Given the description of an element on the screen output the (x, y) to click on. 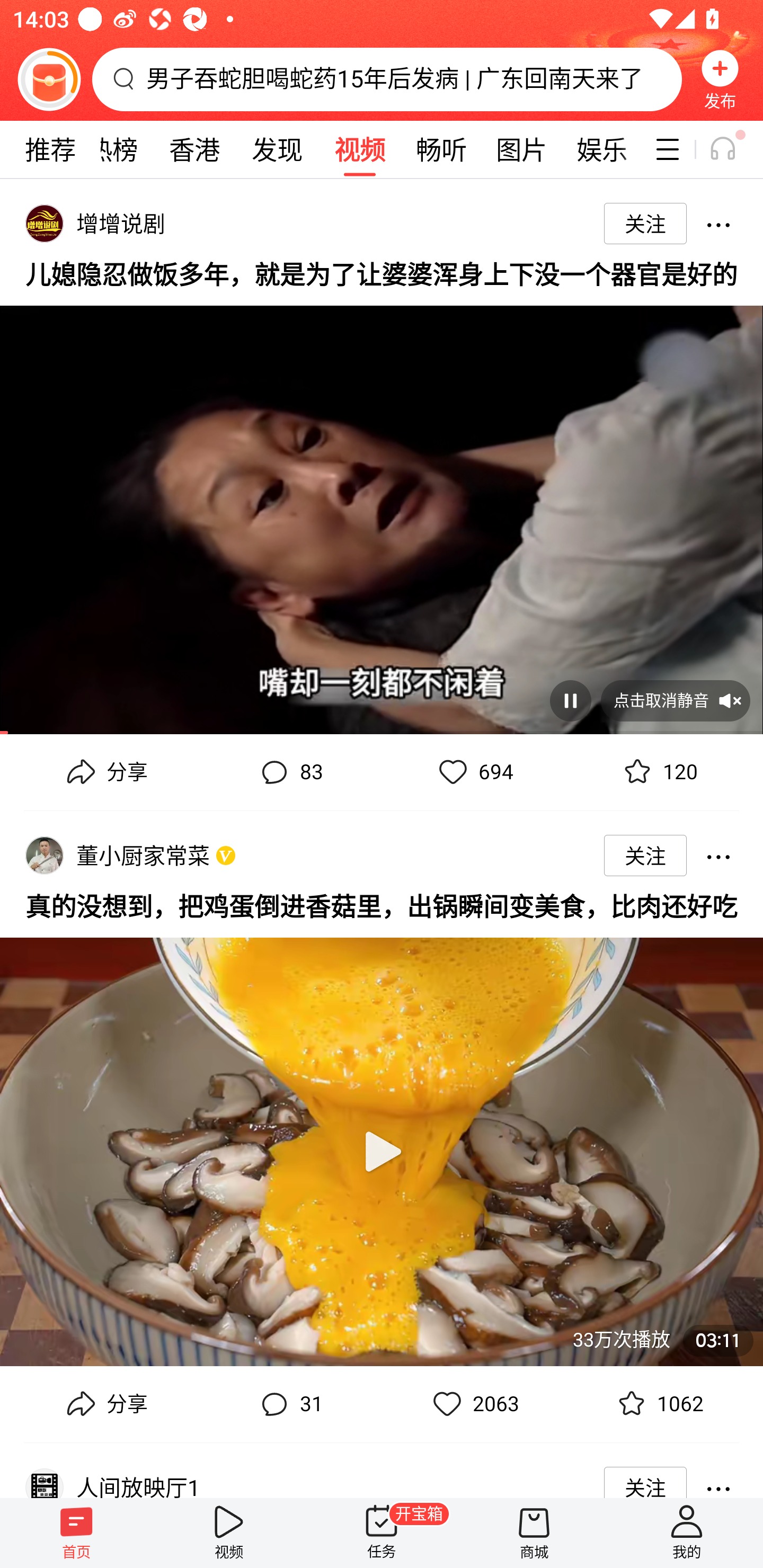
阅读赚金币 (48, 79)
发布 发布，按钮 (720, 78)
推荐 (49, 149)
香港 (194, 149)
发现 (276, 149)
视频 (359, 149)
畅听 (441, 149)
图片 (521, 149)
娱乐 (601, 149)
听一听开关 (732, 149)
更多 (718, 223)
关注 (645, 223)
增增说剧头像 (44, 223)
增增说剧 (123, 223)
儿媳隐忍做饭多年，就是为了让婆婆浑身上下没一个器官是好的 (381, 273)
视频播放器，双击唤起播放控制 点击取消静音 取消静音 (381, 512)
点击取消静音 取消静音 (675, 700)
分享 (104, 771)
评论,83 83 (288, 771)
收藏,120 120 (658, 771)
更多 (718, 855)
关注 (645, 855)
董小厨家常菜头像 (44, 854)
董小厨家常菜 董小厨家常菜  已认证 (145, 855)
真的没想到，把鸡蛋倒进香菇里，出锅瞬间变美食，比肉还好吃 (381, 905)
播放视频 33万次播放 (381, 1144)
分享 (104, 1403)
评论,31 31 (288, 1403)
收藏,1062 1062 (658, 1403)
更多 (718, 1477)
关注 (645, 1481)
人间放映厅1头像 (44, 1482)
人间放映厅1 (141, 1484)
首页 (76, 1532)
视频 (228, 1532)
任务 开宝箱 (381, 1532)
商城 (533, 1532)
我的 (686, 1532)
